Given the description of an element on the screen output the (x, y) to click on. 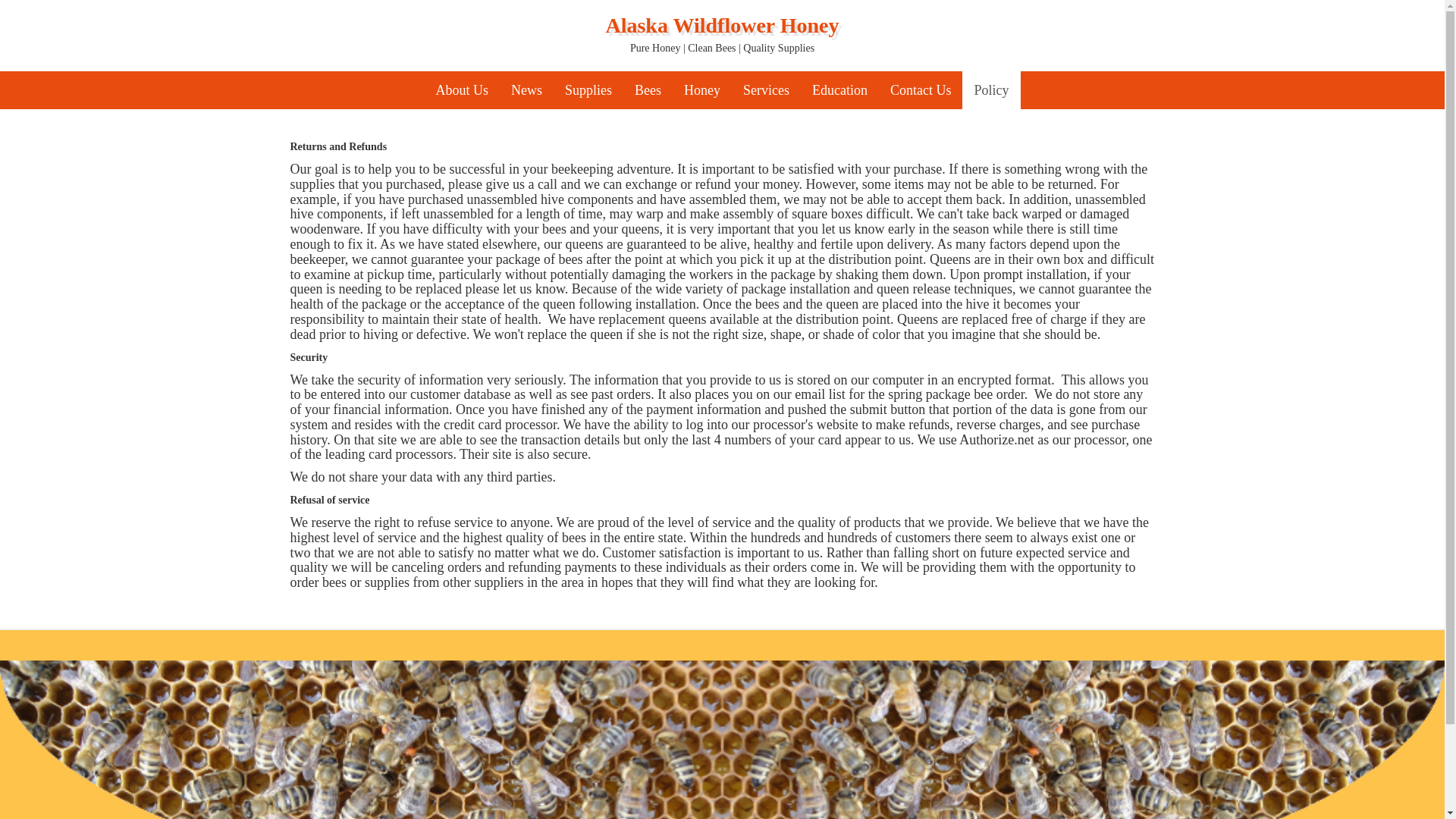
Contact Us (920, 89)
Bees (647, 89)
Supplies (588, 89)
Honey (702, 89)
About Us (461, 89)
Policy (991, 89)
Alaska Wildflower Honey (721, 25)
Services (766, 89)
Education (839, 89)
News (526, 89)
Alaska Wildflower Honey (721, 25)
